Given the description of an element on the screen output the (x, y) to click on. 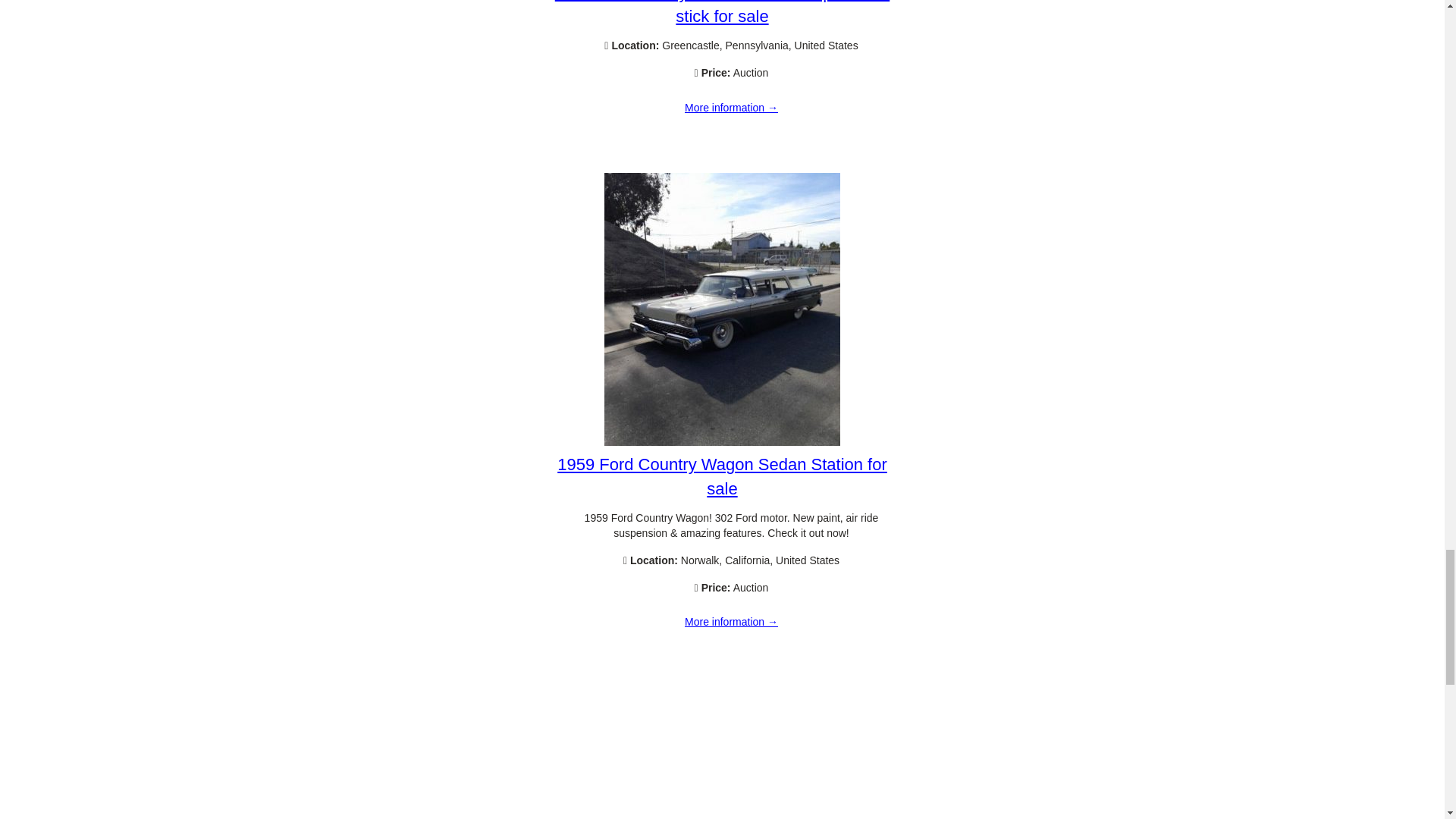
1959 Ford Galaxy Convertible 300 hp H code stick for sale (721, 12)
1959 Ford Country Wagon Sedan Station for sale (731, 622)
1959 Ford Galaxy Convertible 300 hp H code stick for sale (731, 108)
1959 Ford Country Wagon Sedan Station for sale (722, 441)
1959 Ford Country Wagon Sedan Station for sale (721, 476)
